Given the description of an element on the screen output the (x, y) to click on. 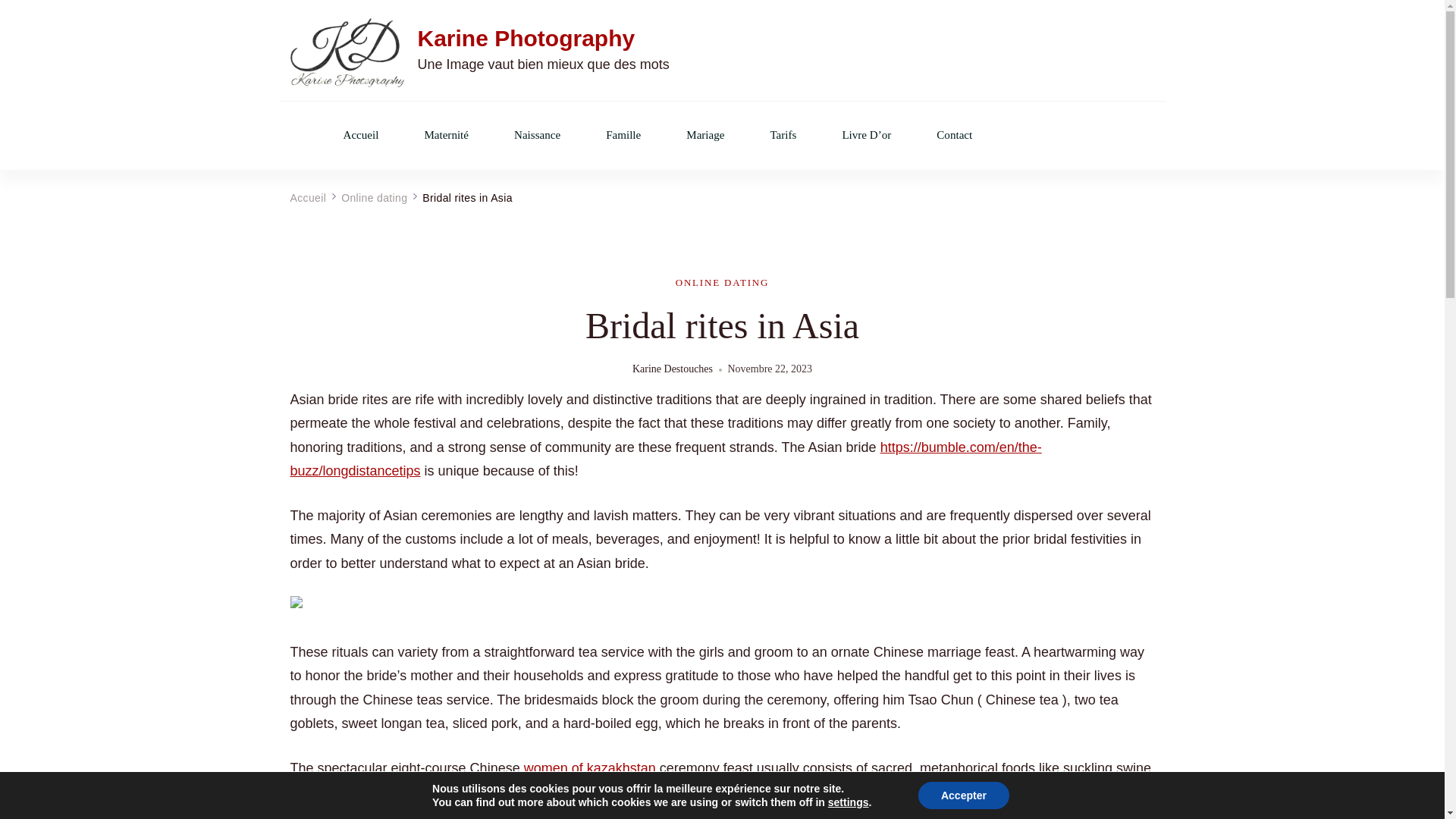
Bridal rites in Asia (467, 197)
Karine Photography (525, 38)
Mariage (704, 134)
ONLINE DATING (722, 282)
women of kazakhstan (590, 767)
Naissance (536, 134)
Contact (954, 134)
Accueil (360, 134)
Online dating (373, 197)
Famille (622, 134)
Tarifs (783, 134)
Accueil (307, 197)
Karine Destouches (672, 369)
Novembre 22, 2023 (770, 368)
